Given the description of an element on the screen output the (x, y) to click on. 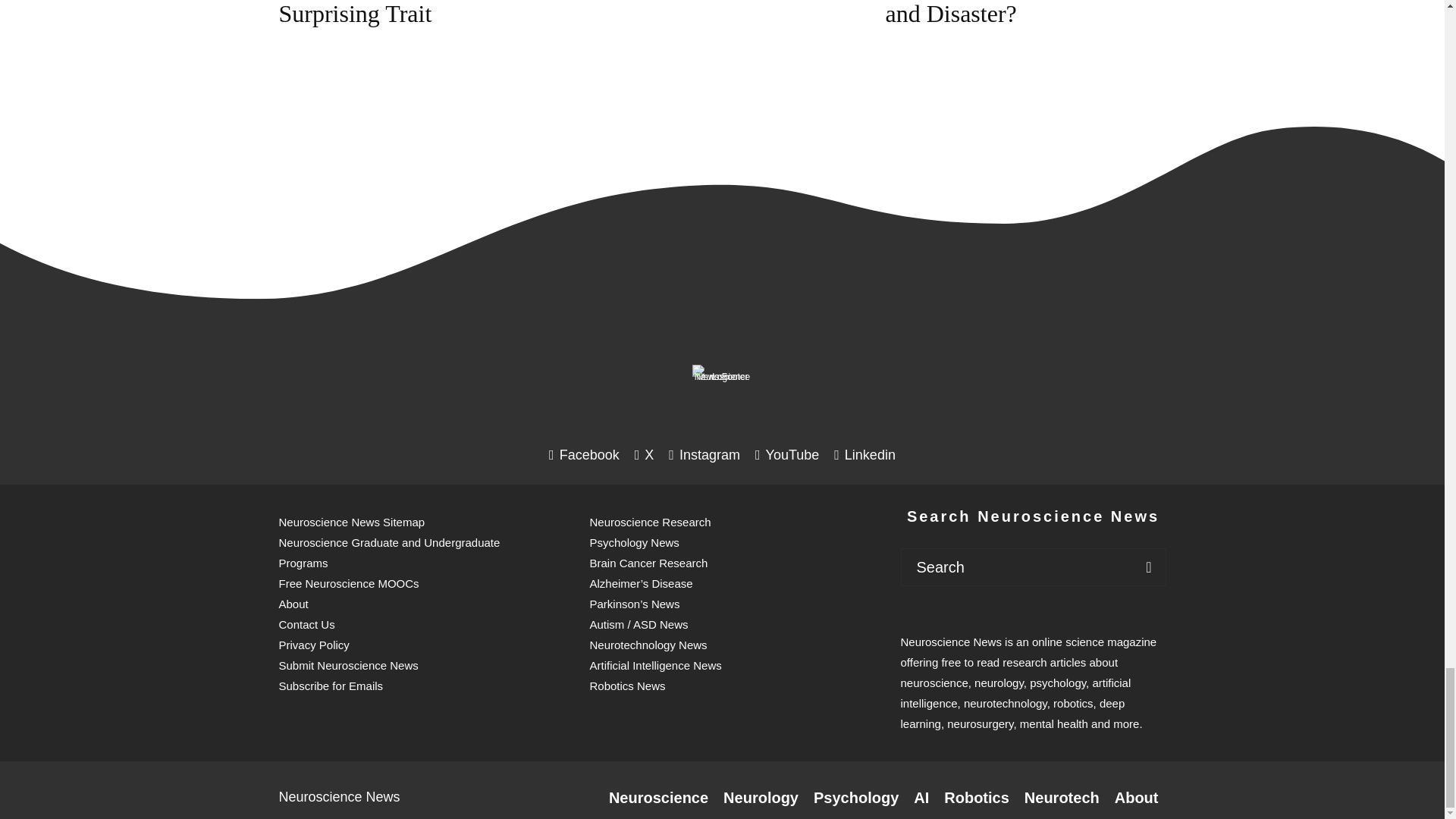
Neurology Research Articles (760, 797)
Psychology Research Articles (855, 797)
Neuroscience Research (657, 797)
